Given the description of an element on the screen output the (x, y) to click on. 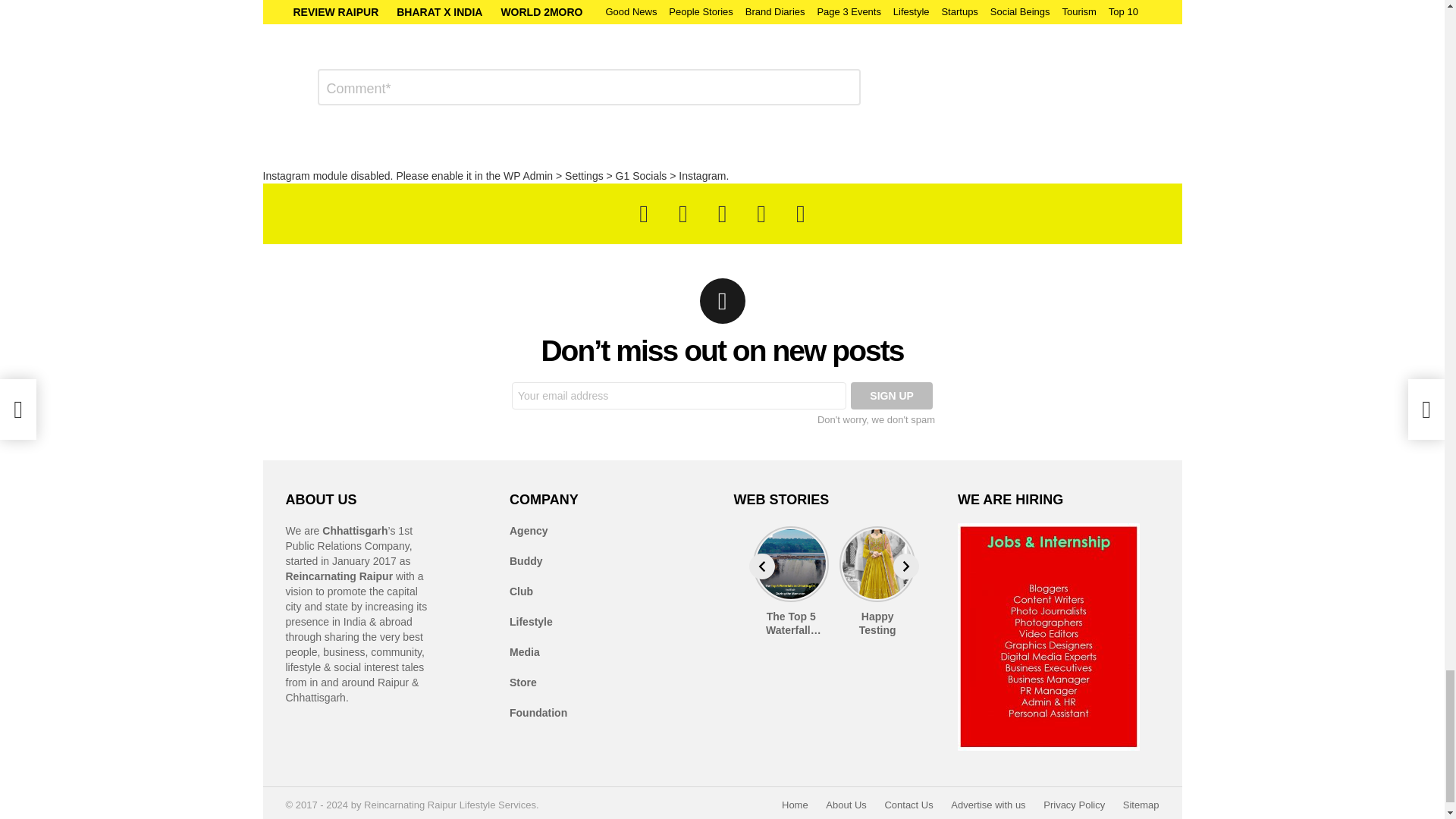
sign Up (891, 395)
